Given the description of an element on the screen output the (x, y) to click on. 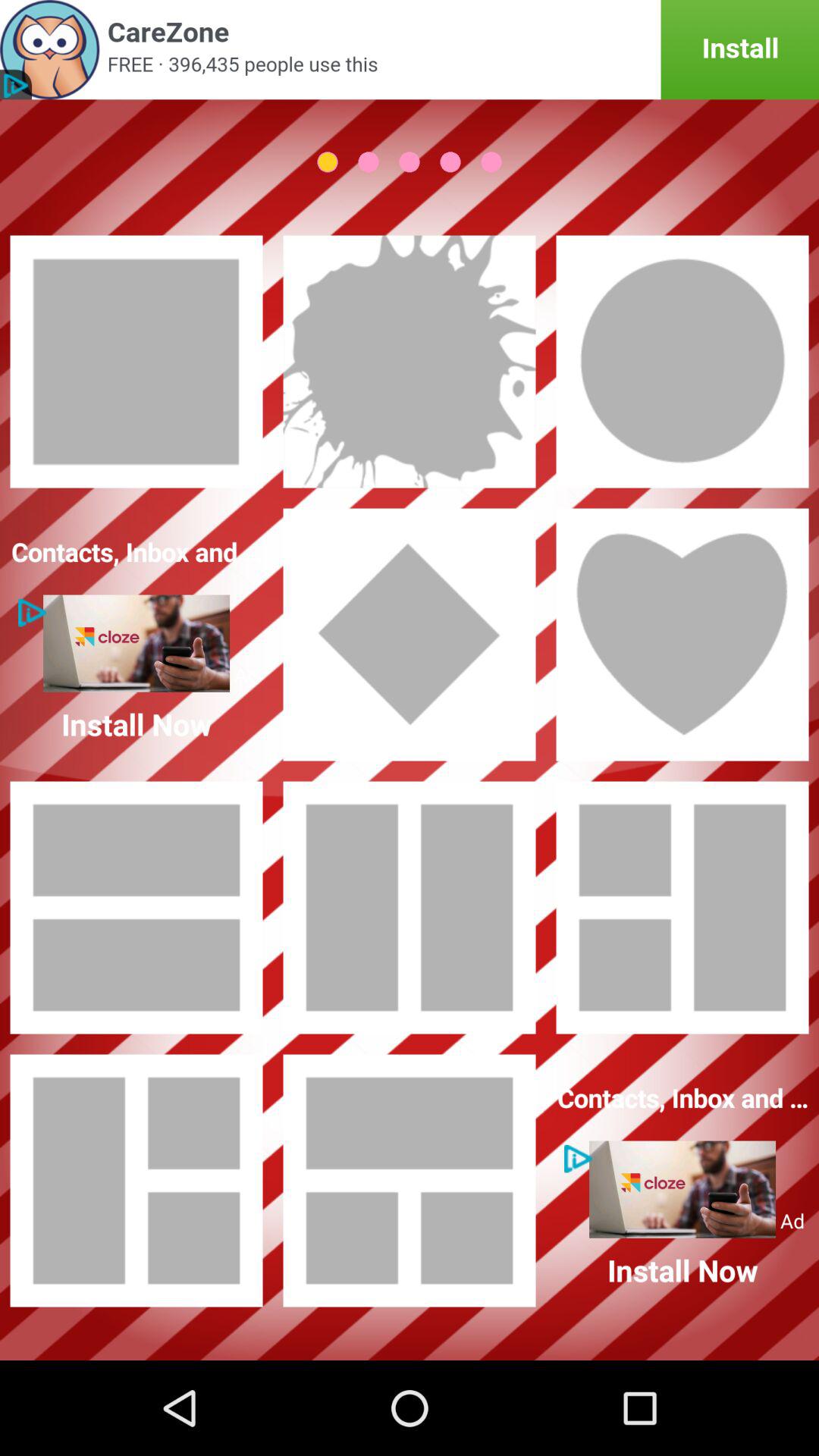
advertisement adding button (409, 49)
